Given the description of an element on the screen output the (x, y) to click on. 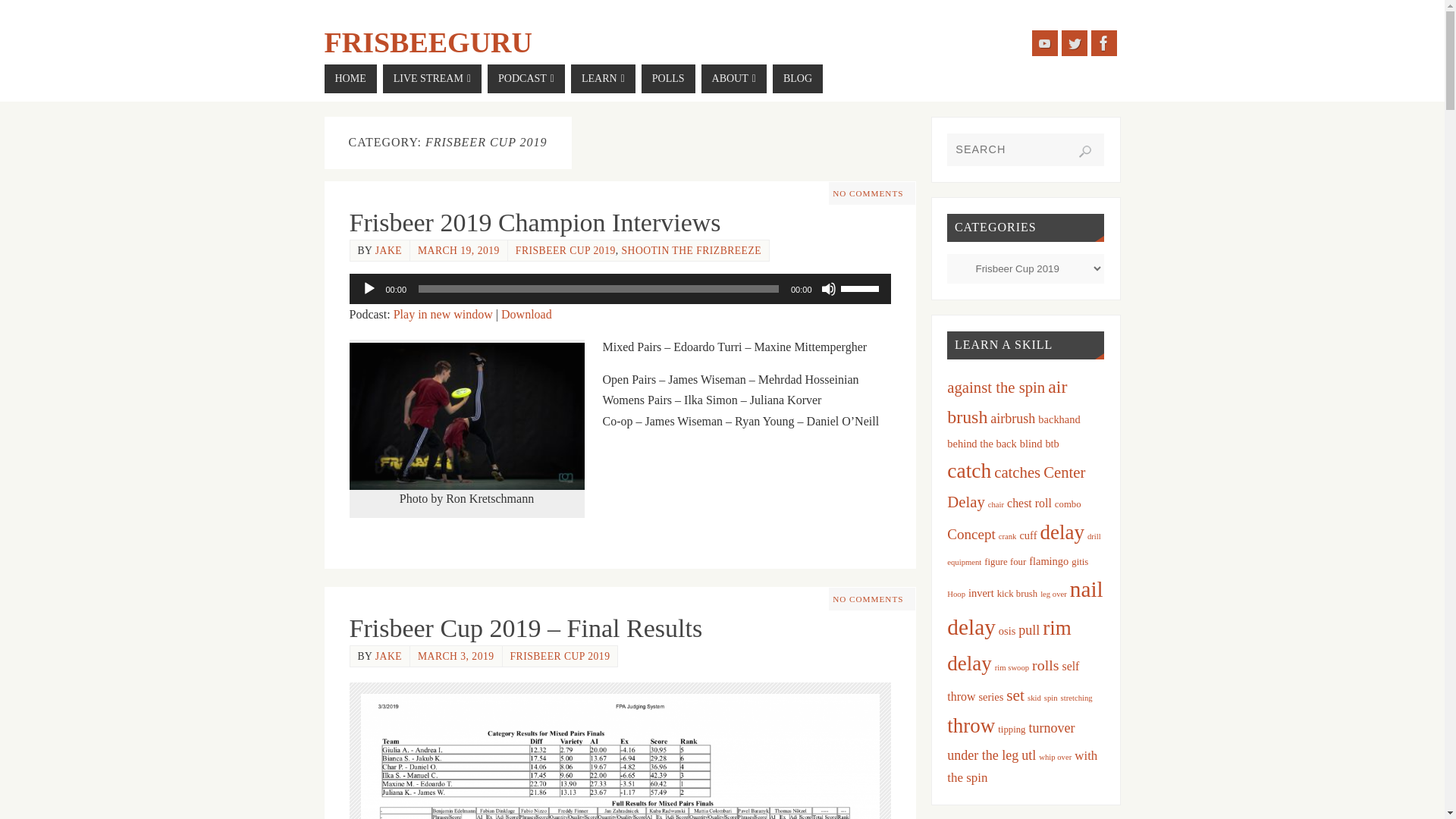
POLLS (668, 78)
Play in new window (443, 314)
Download (525, 314)
FrisbeeGuru (428, 42)
Frisbeer 2019 Champion Interviews (534, 222)
FRISBEER CUP 2019 (565, 250)
LEARN (602, 78)
View all posts by Jake (388, 655)
NO COMMENTS (867, 598)
FRISBEER CUP 2019 (560, 655)
FRISBEEGURU (428, 42)
View all posts by Jake (388, 250)
LIVE STREAM (431, 78)
Facebook (1103, 43)
Download (525, 314)
